Given the description of an element on the screen output the (x, y) to click on. 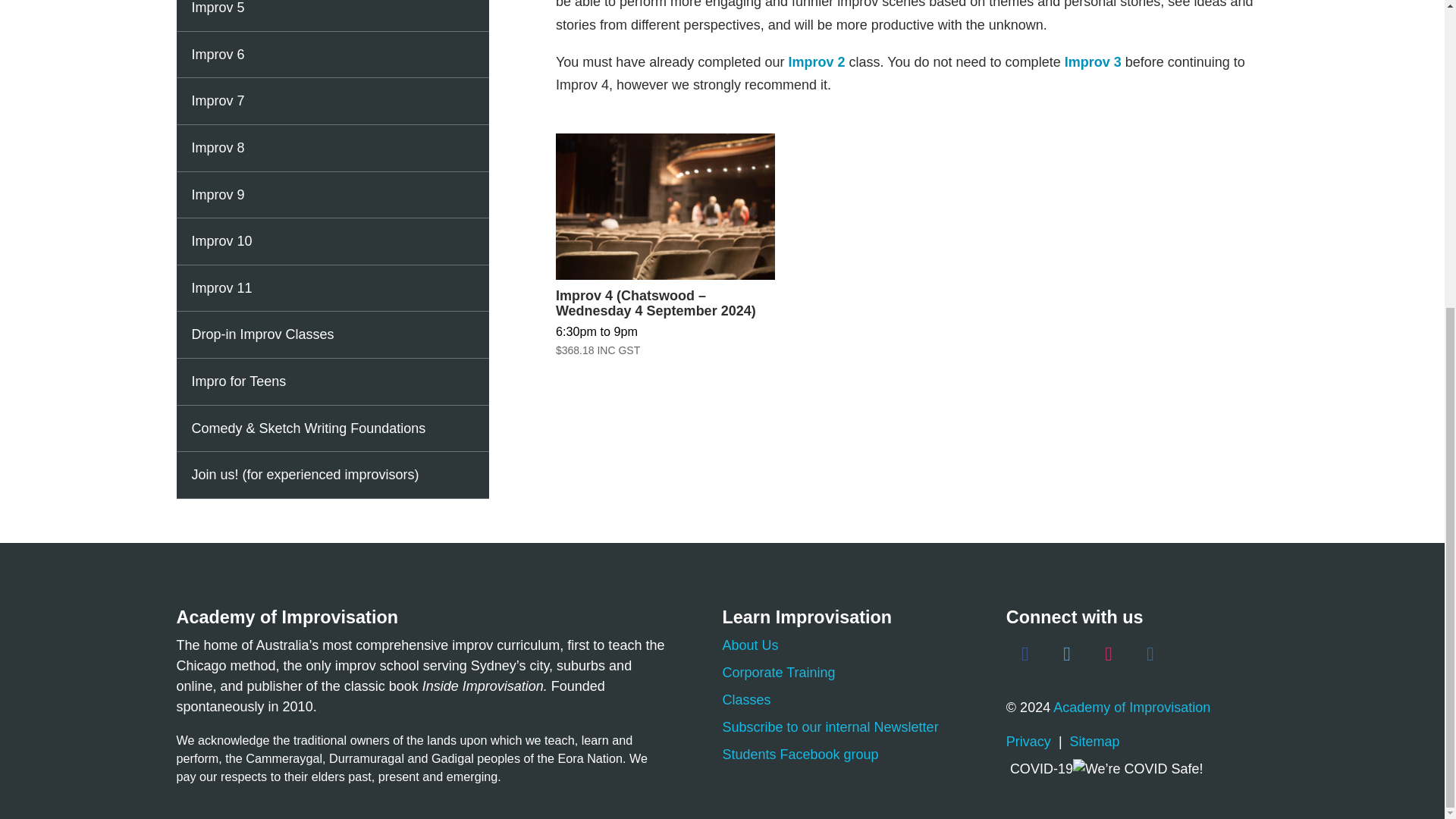
Default Label (1150, 653)
Twitter (1067, 653)
Facebook (1025, 653)
Instagram (1108, 653)
